Given the description of an element on the screen output the (x, y) to click on. 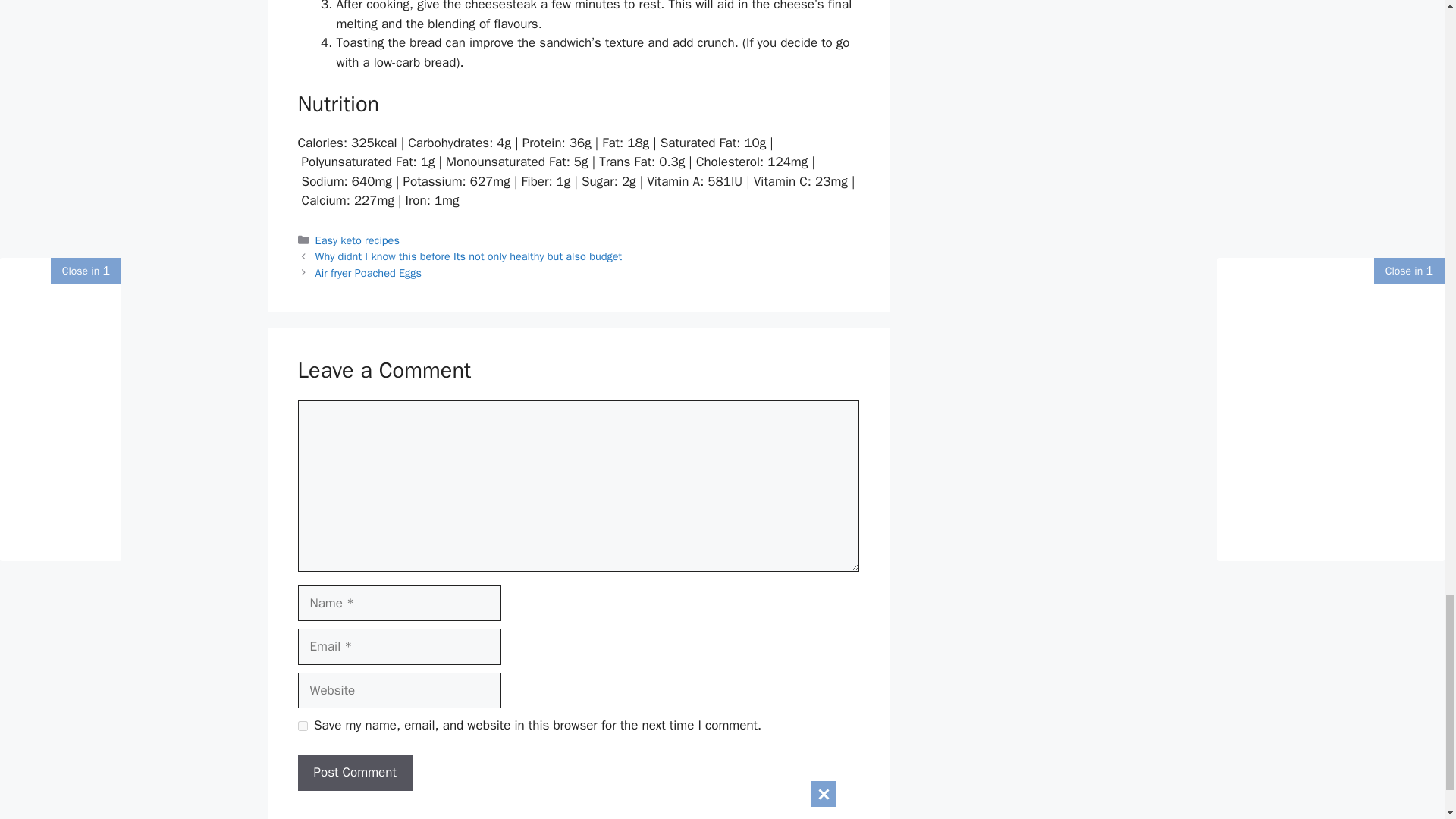
yes (302, 726)
Easy keto recipes (356, 240)
Post Comment (354, 772)
Air fryer Poached Eggs (368, 273)
Post Comment (354, 772)
